Given the description of an element on the screen output the (x, y) to click on. 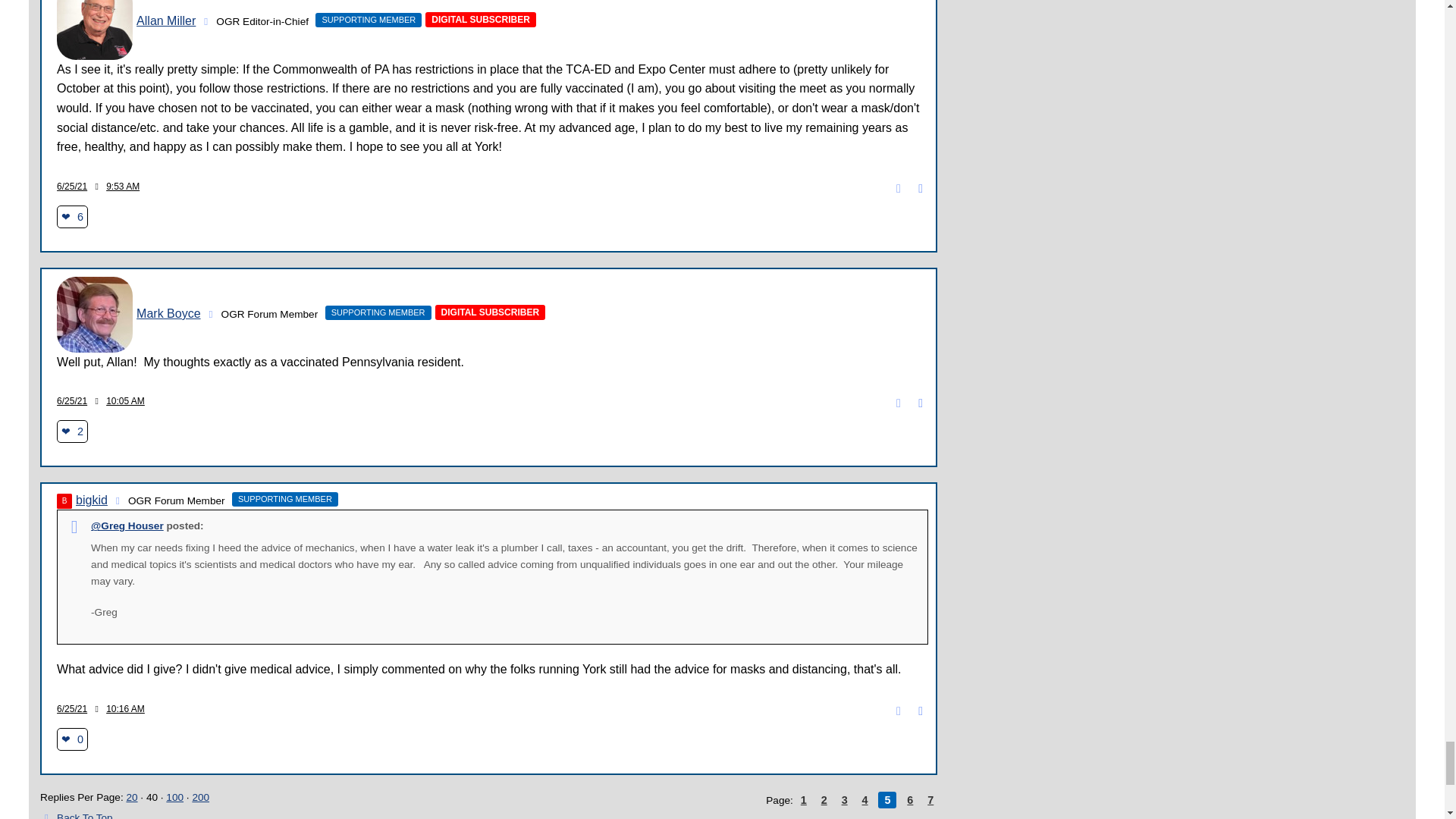
B (63, 500)
